Given the description of an element on the screen output the (x, y) to click on. 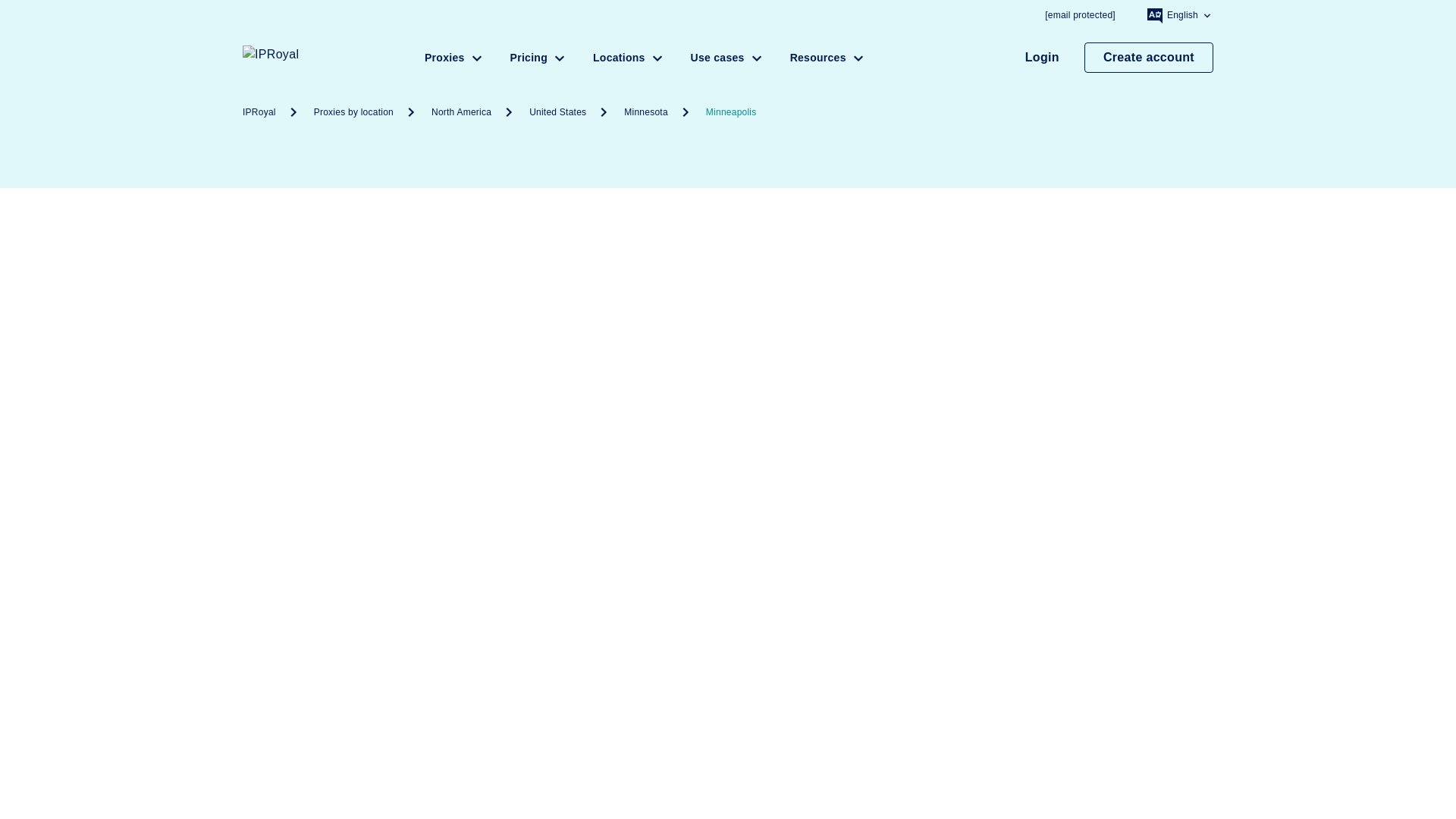
Pricing (540, 56)
Locations (629, 56)
Use cases (727, 56)
IPRoyal (303, 57)
Proxies (455, 56)
